Given the description of an element on the screen output the (x, y) to click on. 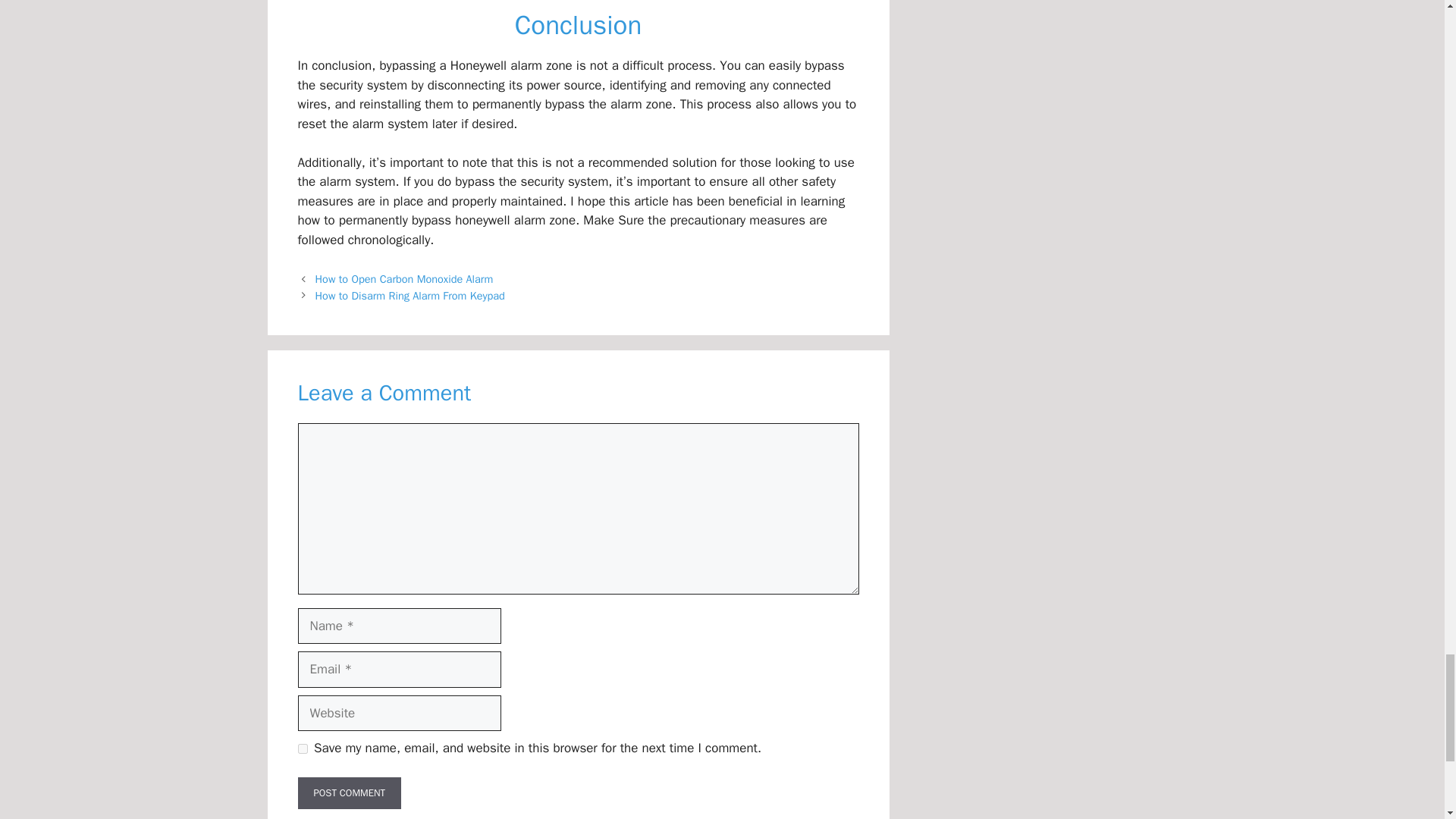
yes (302, 748)
Post Comment (349, 793)
How to Open Carbon Monoxide Alarm (404, 278)
How to Disarm Ring Alarm From Keypad (410, 295)
Post Comment (349, 793)
